Given the description of an element on the screen output the (x, y) to click on. 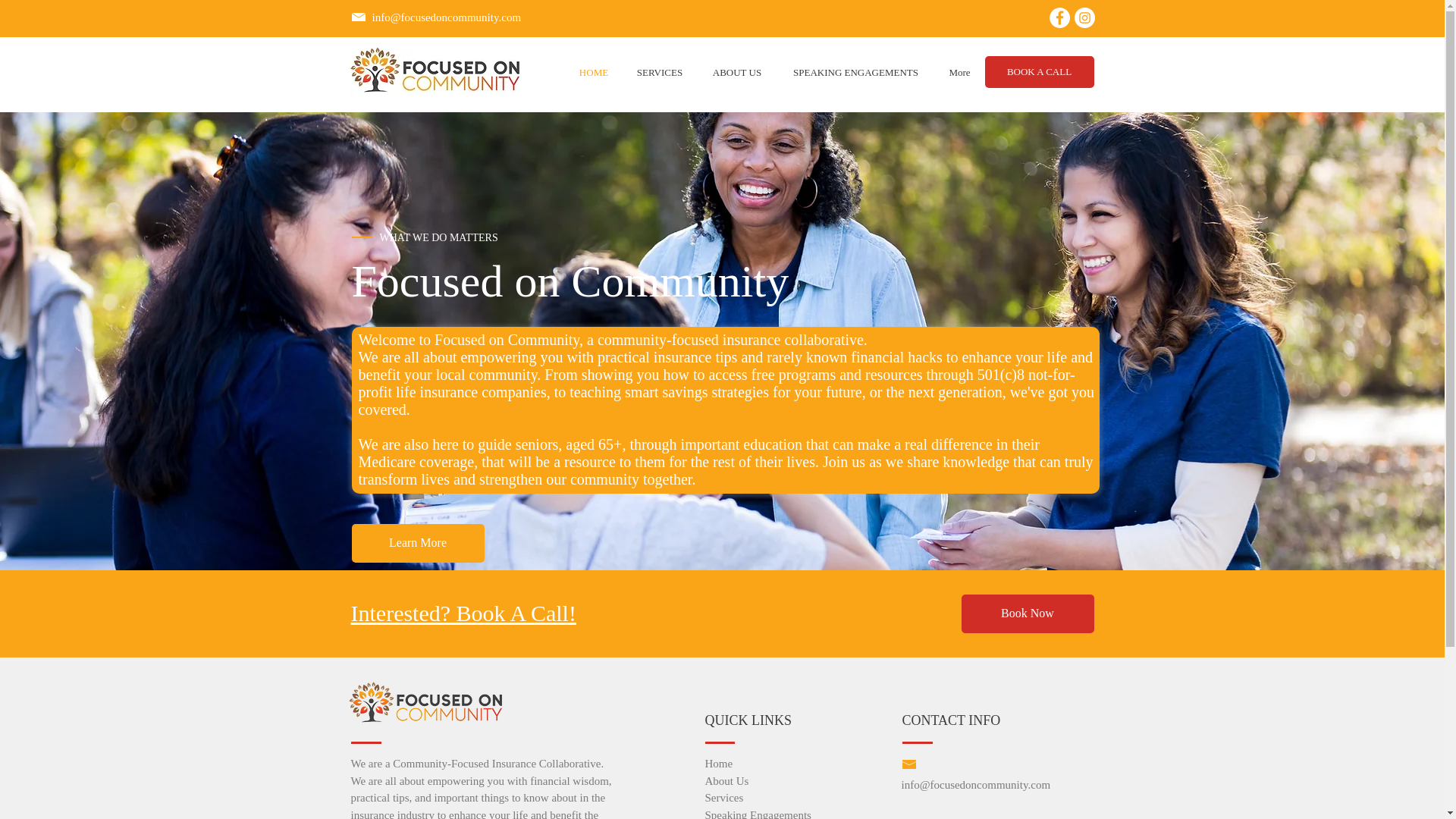
Home (718, 762)
Book Now (1027, 613)
ABOUT US (737, 72)
SERVICES (659, 72)
BOOK A CALL (1038, 71)
About Us (726, 779)
Speaking Engagements (757, 813)
Learn More (418, 543)
Services (724, 797)
SPEAKING ENGAGEMENTS (855, 72)
